Given the description of an element on the screen output the (x, y) to click on. 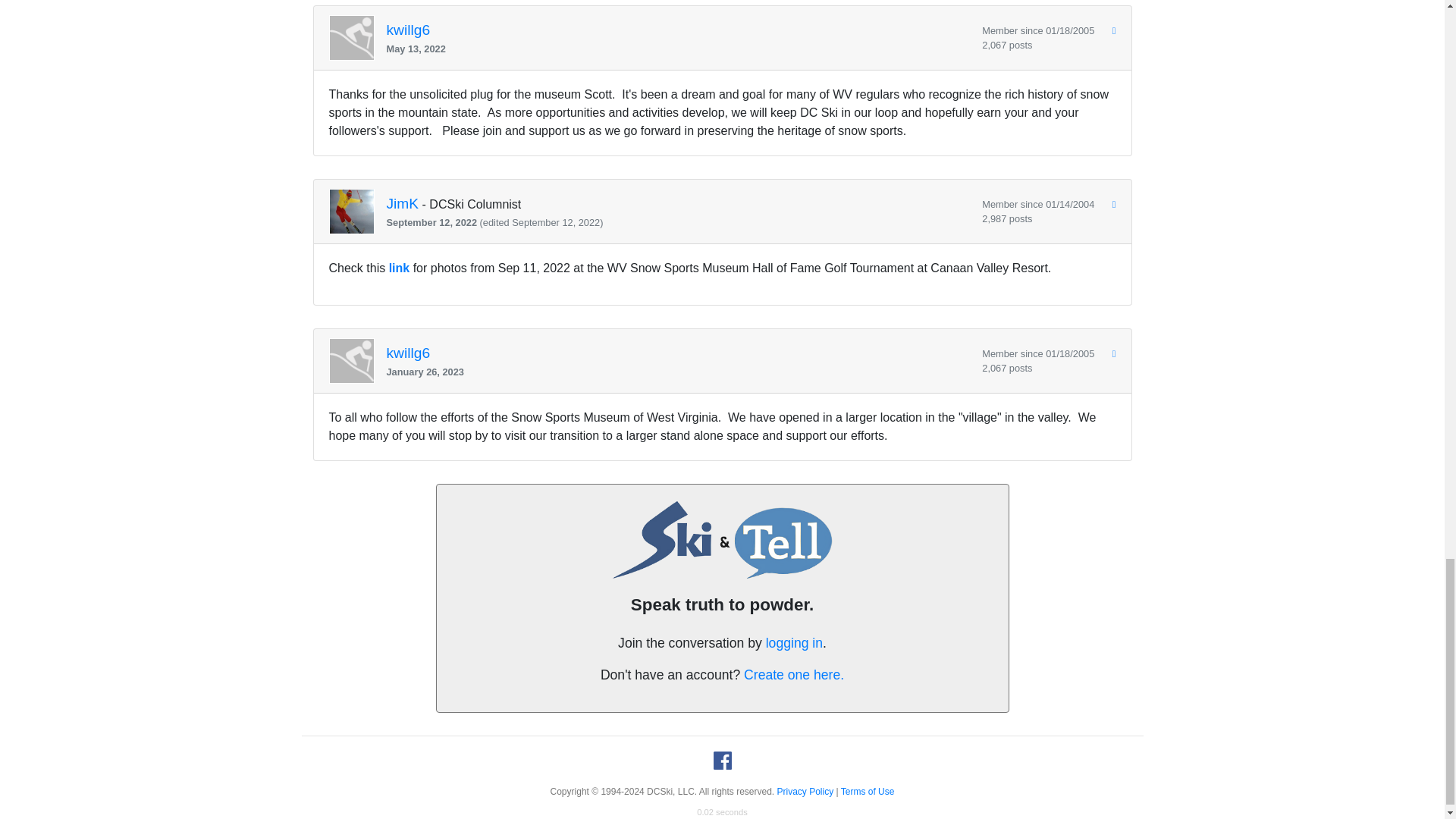
kwillg6 (408, 30)
May 13, 2022 at 09:41 pm (679, 48)
logging in (793, 642)
January 26, 2023 at 08:17 pm (679, 371)
link (399, 267)
JimK (403, 204)
kwillg6 (408, 353)
September 12, 2022 at 09:32 am (679, 222)
Create one here. (794, 674)
